Given the description of an element on the screen output the (x, y) to click on. 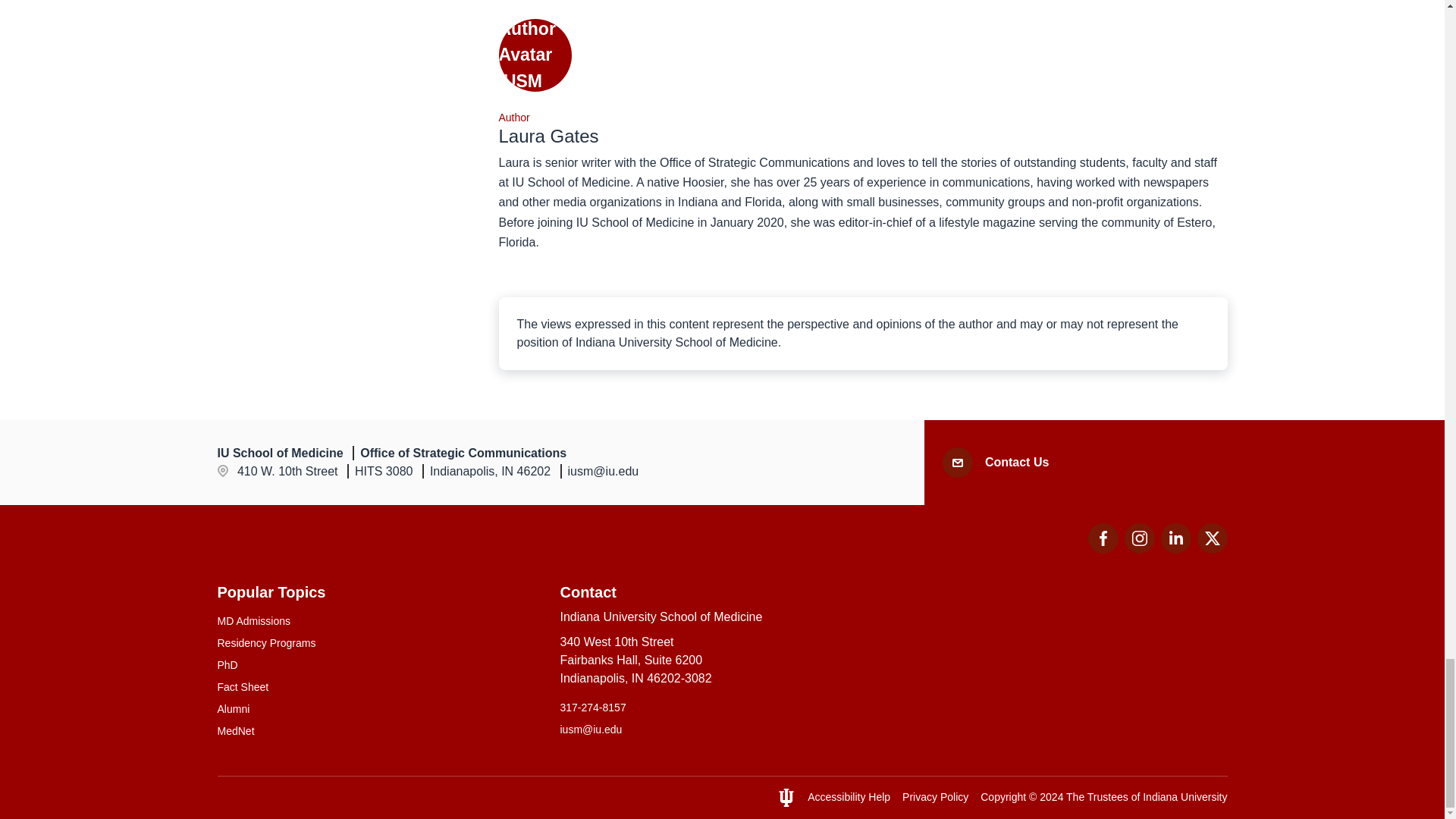
Contact Us (1016, 462)
Alumni (378, 709)
Fact Sheet (378, 687)
Twitter (1211, 538)
LinkedIn (1175, 538)
Instagram (1139, 538)
Copyright (1002, 797)
Facebook (1102, 538)
MD Admissions (1211, 549)
